Given the description of an element on the screen output the (x, y) to click on. 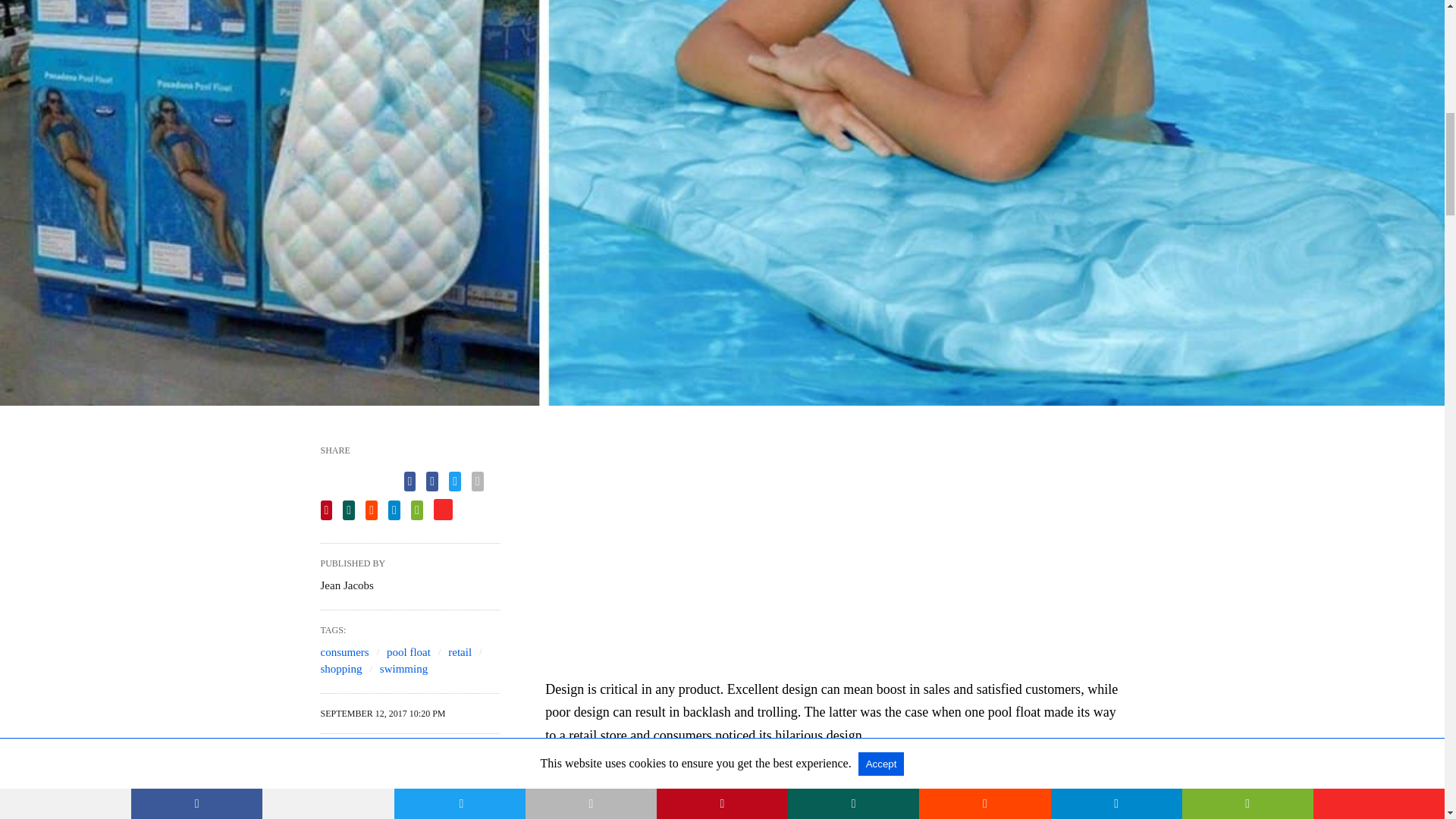
shopping (340, 668)
retail (459, 652)
Facebook like button (356, 478)
consumers (344, 652)
pool float (408, 652)
shopping (340, 668)
swimming (404, 668)
retail (459, 652)
consumers (344, 652)
swimming (404, 668)
pool float (408, 652)
flipboard share (442, 509)
3rd party ad content (834, 559)
